Given the description of an element on the screen output the (x, y) to click on. 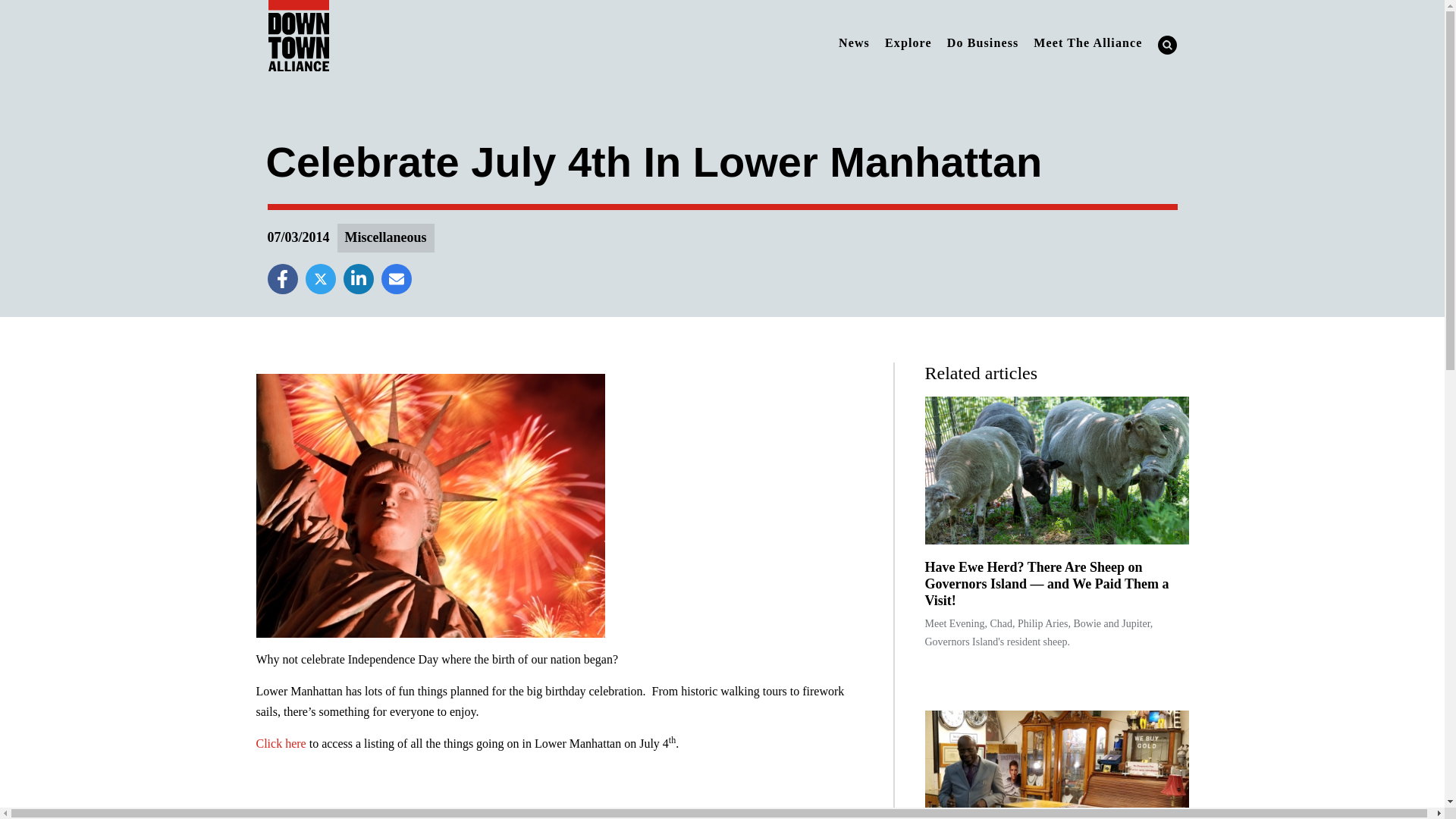
Meet The Alliance (1087, 42)
Do Business (983, 42)
News (853, 42)
Explore (908, 42)
July 4, 2014 (430, 505)
